Given the description of an element on the screen output the (x, y) to click on. 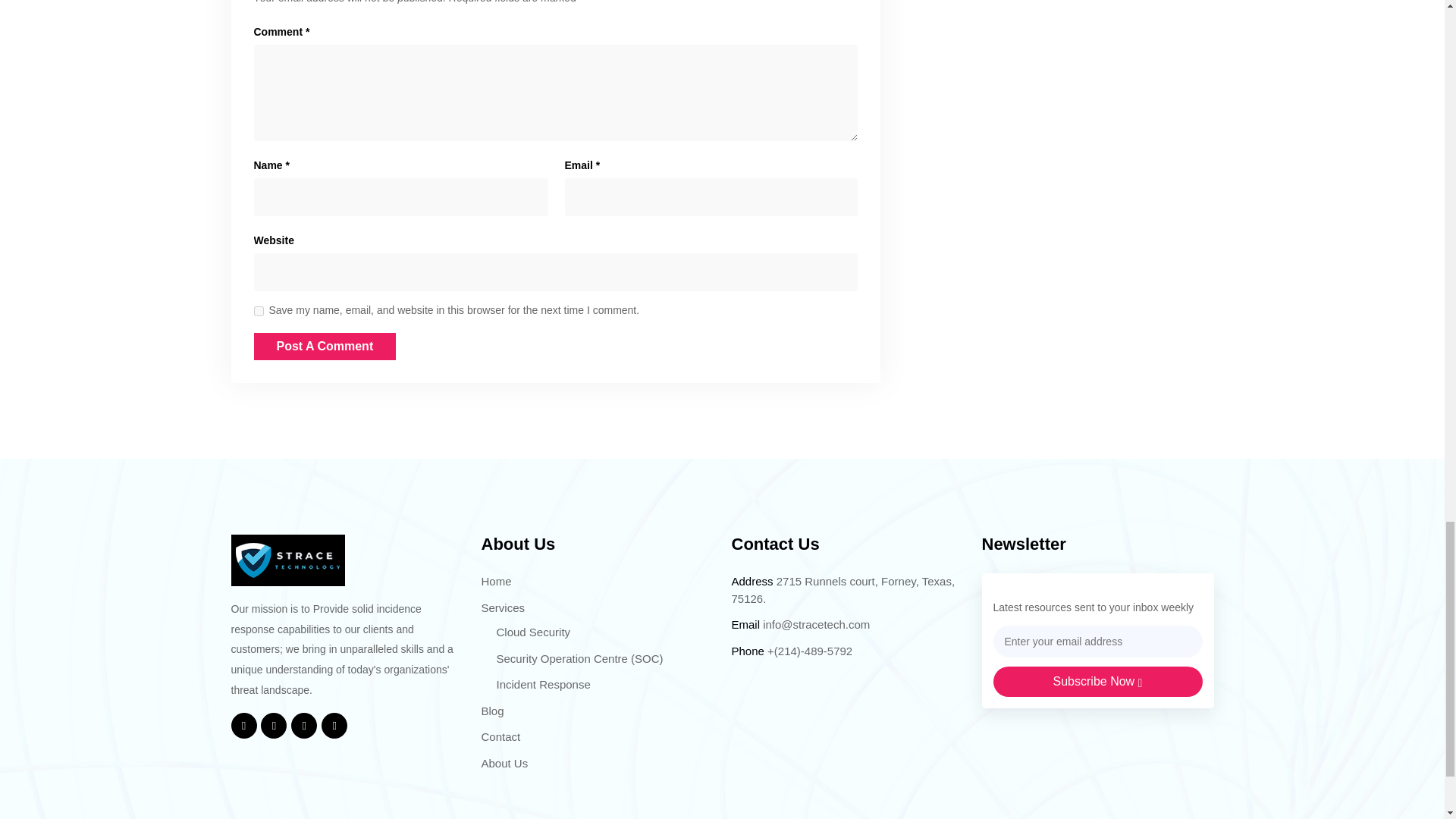
yes (258, 311)
Blog (491, 710)
Incident Response (542, 684)
Post a Comment (324, 346)
Home (495, 581)
Cloud Security (533, 631)
Contact (499, 736)
Post a Comment (324, 346)
About Us (503, 762)
Services (502, 607)
